Given the description of an element on the screen output the (x, y) to click on. 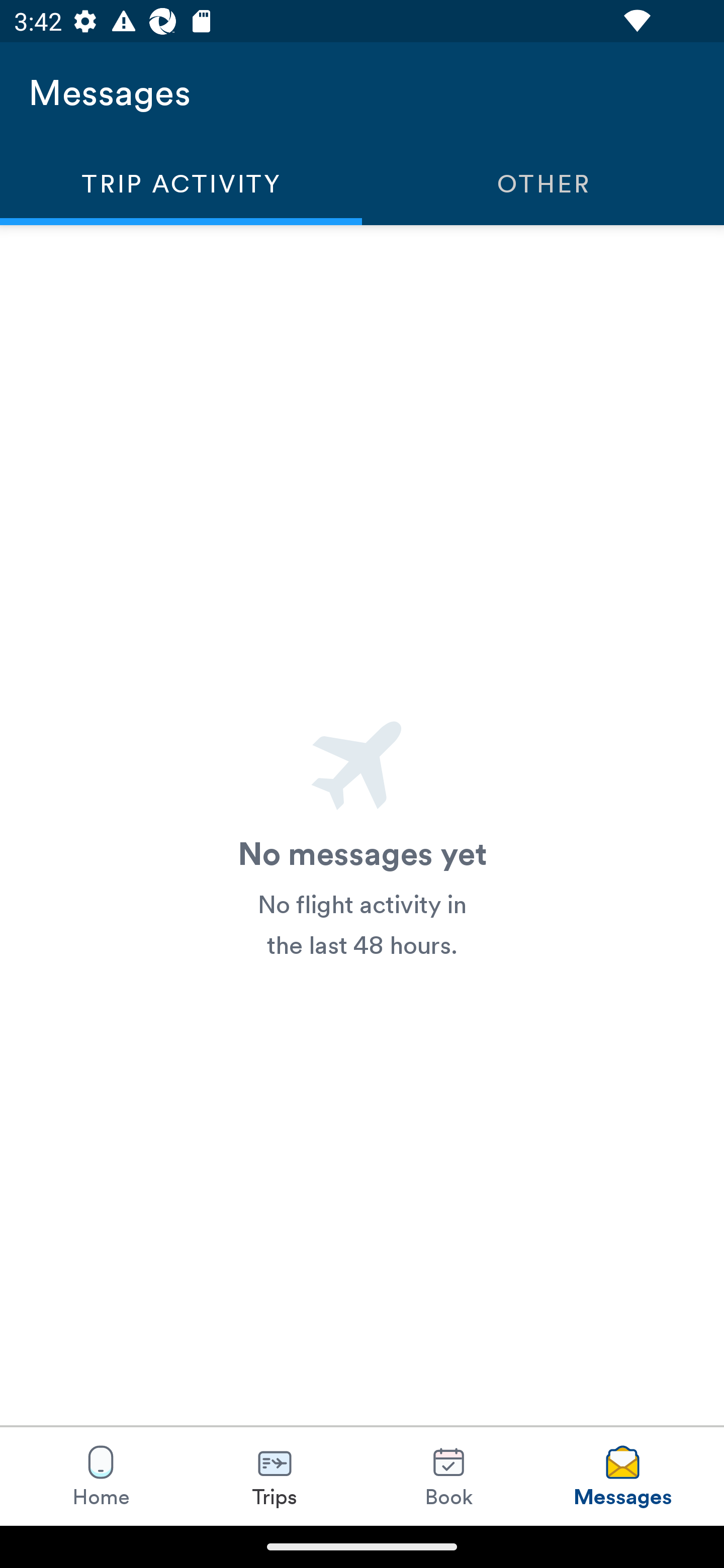
OTHER (543, 183)
Home (100, 1475)
Trips (275, 1475)
Book (448, 1475)
Messages (622, 1475)
